Given the description of an element on the screen output the (x, y) to click on. 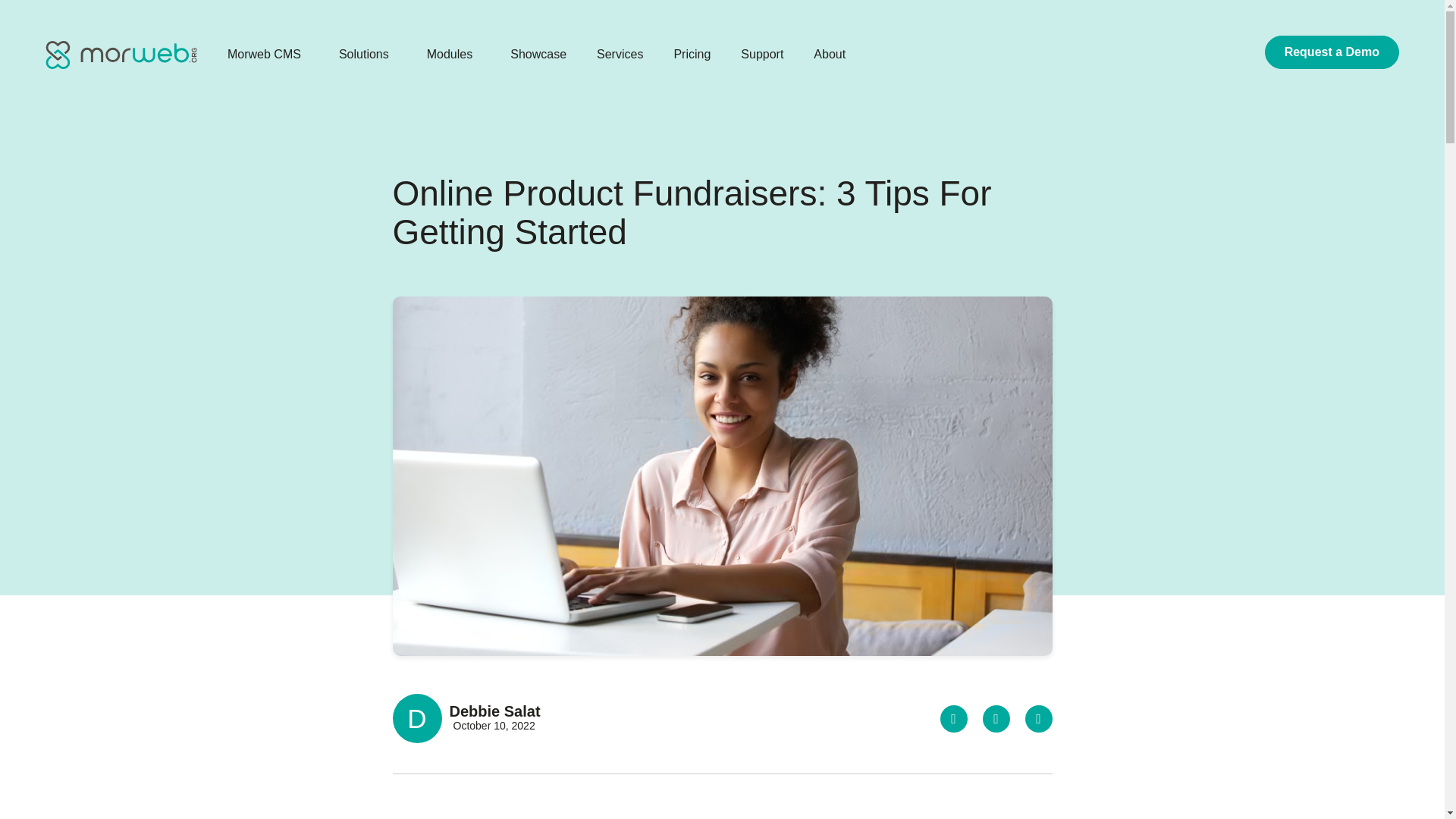
Pricing (691, 54)
Modules (453, 54)
About (832, 54)
Showcase (537, 54)
Services (619, 54)
Solutions (367, 54)
Support (761, 54)
Morweb CMS (267, 54)
Morweb CMS (120, 54)
